Given the description of an element on the screen output the (x, y) to click on. 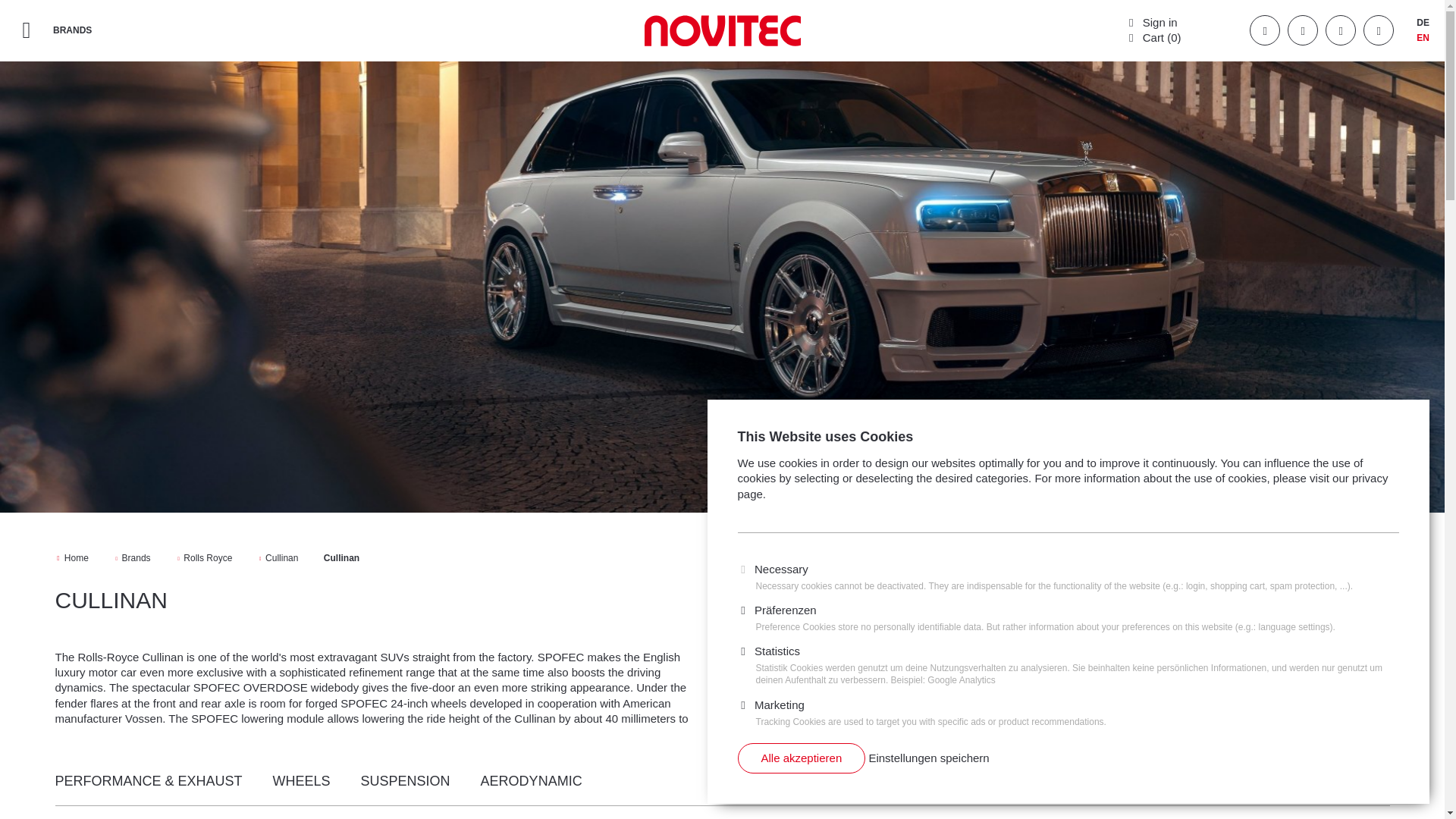
Cullinan (279, 557)
Alle akzeptieren (800, 757)
Brands (132, 557)
Sign in (1150, 21)
Rolls Royce (205, 557)
send request (1333, 593)
Home (72, 557)
Einstellungen speichern (927, 757)
